Given the description of an element on the screen output the (x, y) to click on. 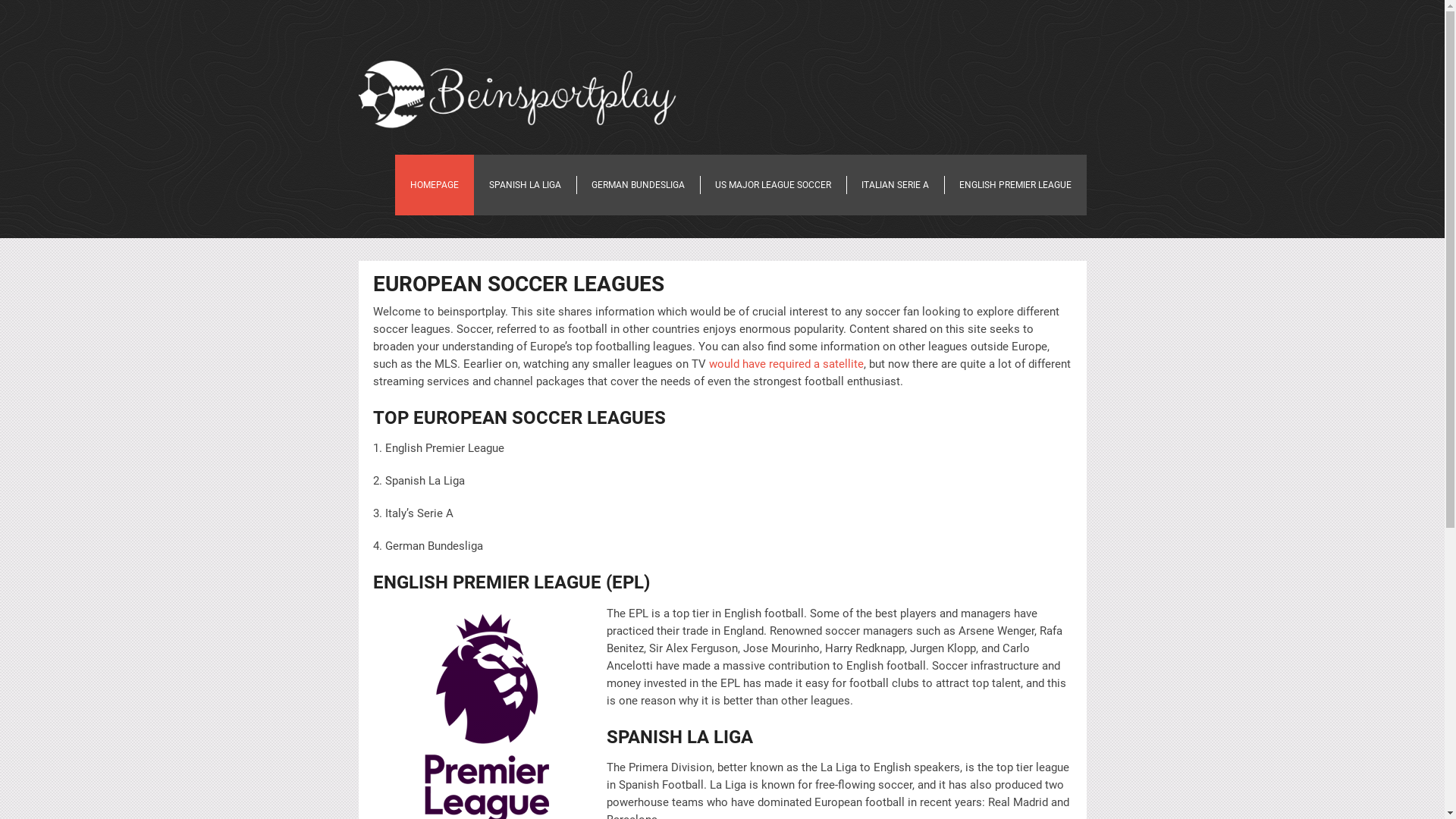
SPANISH LA LIGA Element type: text (524, 184)
GERMAN BUNDESLIGA Element type: text (637, 184)
would have required a satellite Element type: text (786, 363)
ENGLISH PREMIER LEAGUE Element type: text (1014, 184)
US MAJOR LEAGUE SOCCER Element type: text (772, 184)
ITALIAN SERIE A Element type: text (895, 184)
HOMEPAGE Element type: text (433, 184)
